Given the description of an element on the screen output the (x, y) to click on. 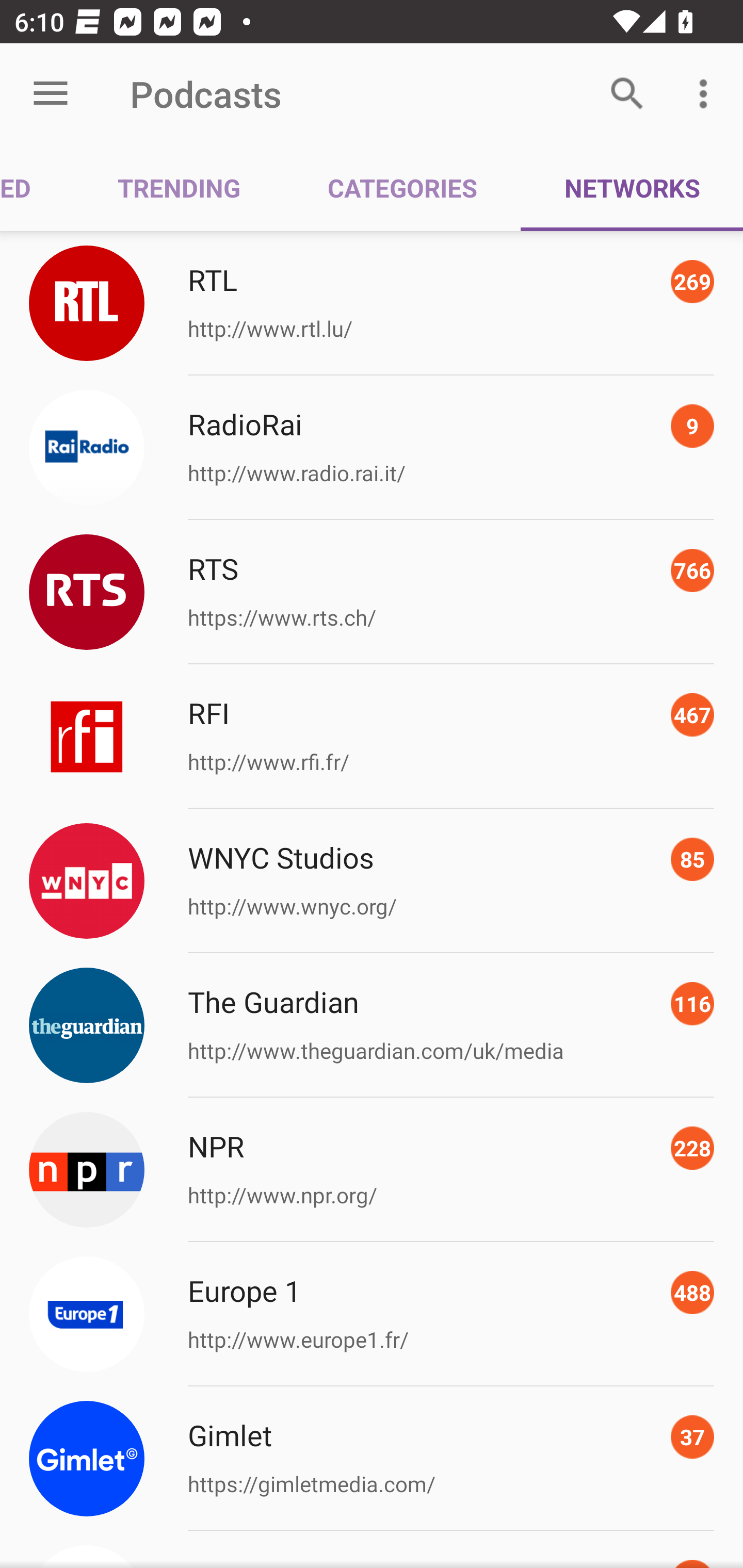
Open menu (50, 93)
Search (626, 93)
More options (706, 93)
TRENDING (178, 187)
CATEGORIES (401, 187)
NETWORKS (631, 187)
Picture RTL 269 http://www.rtl.lu/ (371, 302)
Picture RadioRai 9 http://www.radio.rai.it/ (371, 447)
Picture RTS 766 https://www.rts.ch/ (371, 592)
Picture RFI 467 http://www.rfi.fr/ (371, 736)
Picture WNYC Studios 85 http://www.wnyc.org/ (371, 881)
Picture NPR 228 http://www.npr.org/ (371, 1169)
Picture Europe 1 488 http://www.europe1.fr/ (371, 1313)
Picture Gimlet 37 https://gimletmedia.com/ (371, 1458)
